Given the description of an element on the screen output the (x, y) to click on. 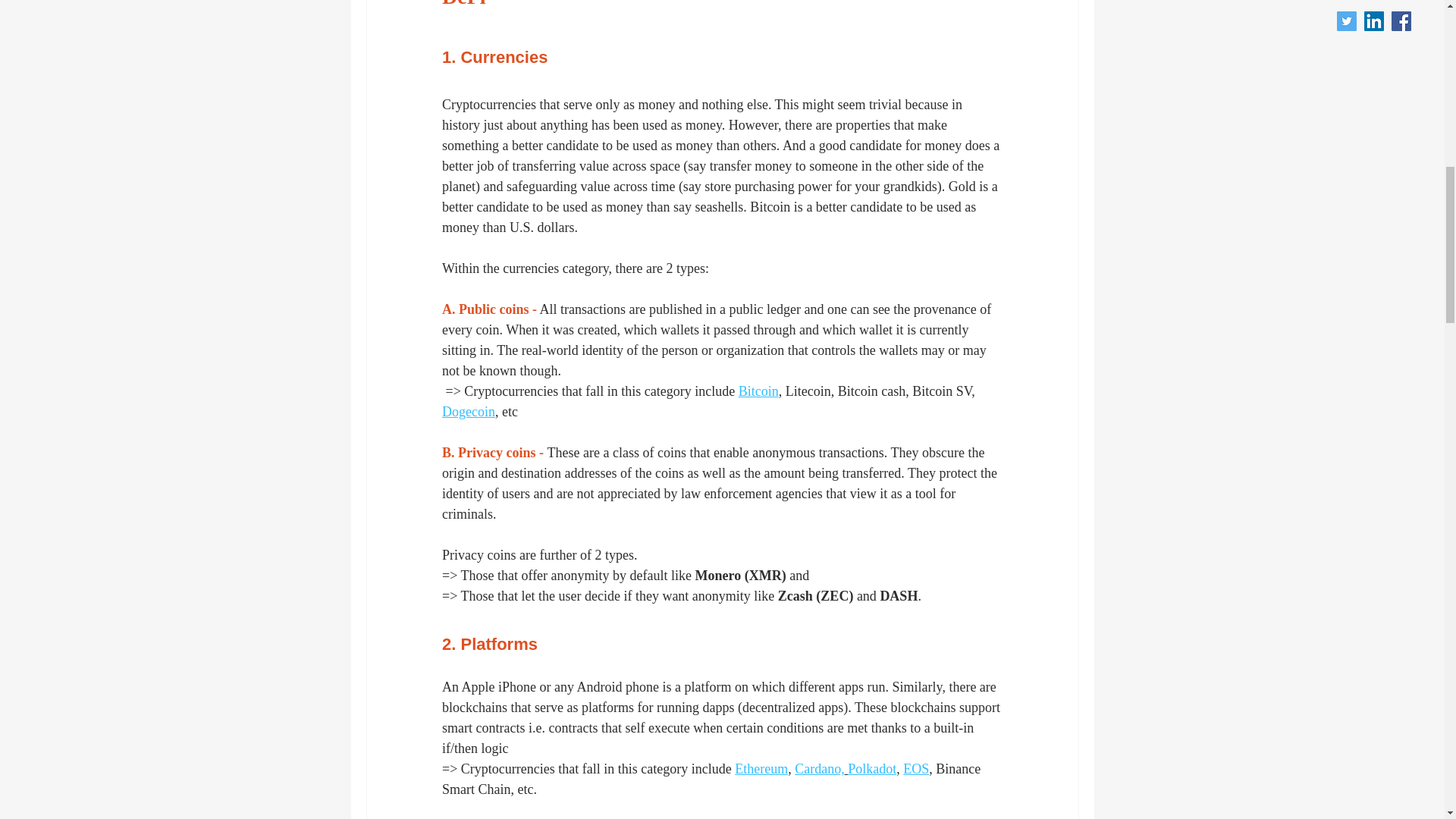
Bitcoin (757, 391)
Cardano, (819, 768)
Polkadot (871, 768)
Dogecoin (468, 411)
EOS (915, 768)
Ethereum (761, 768)
